Given the description of an element on the screen output the (x, y) to click on. 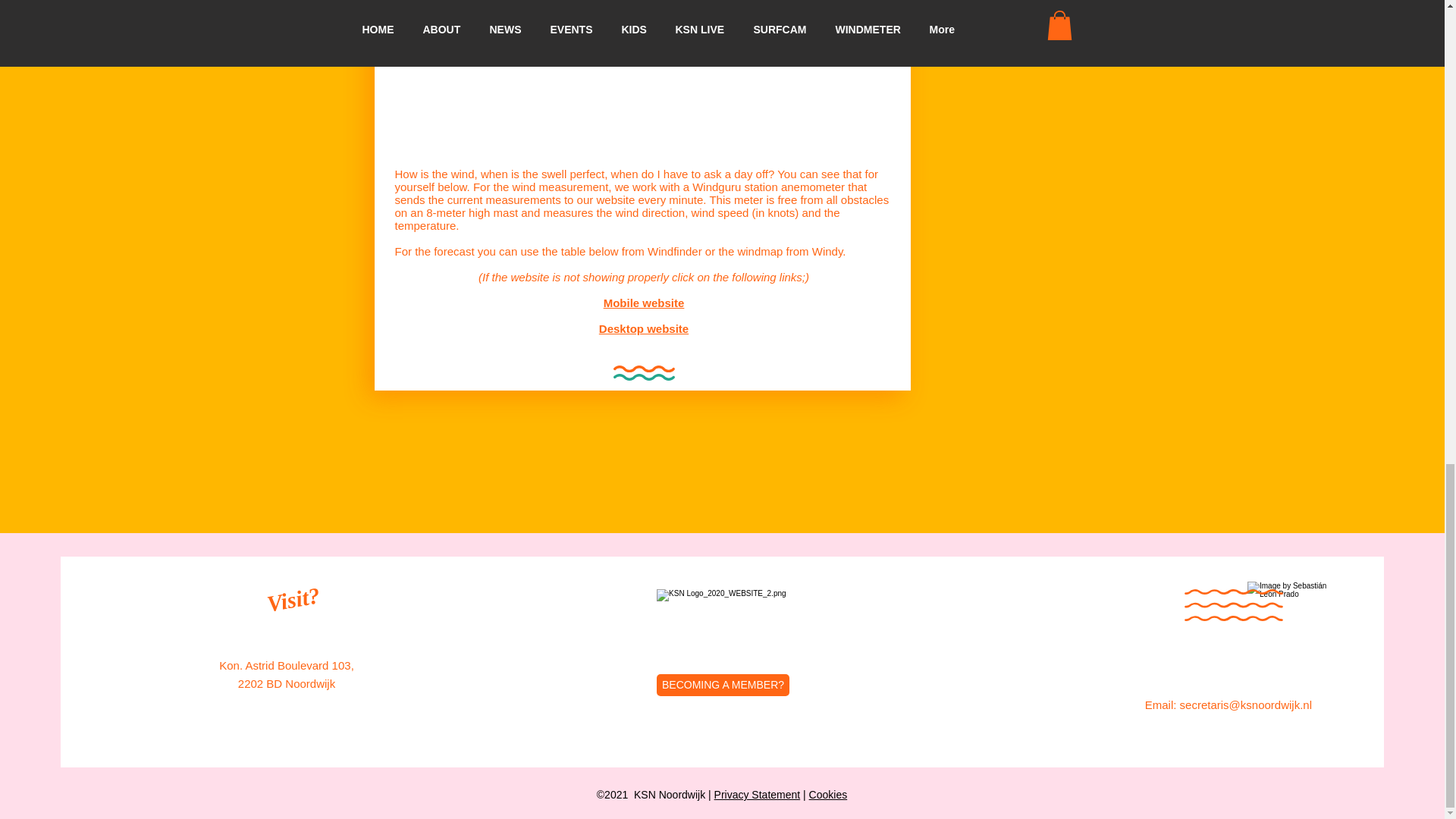
Desktop website (643, 328)
Mobile website (644, 302)
Privacy Statement (757, 794)
BECOMING A MEMBER? (722, 685)
Cookies (828, 794)
